Given the description of an element on the screen output the (x, y) to click on. 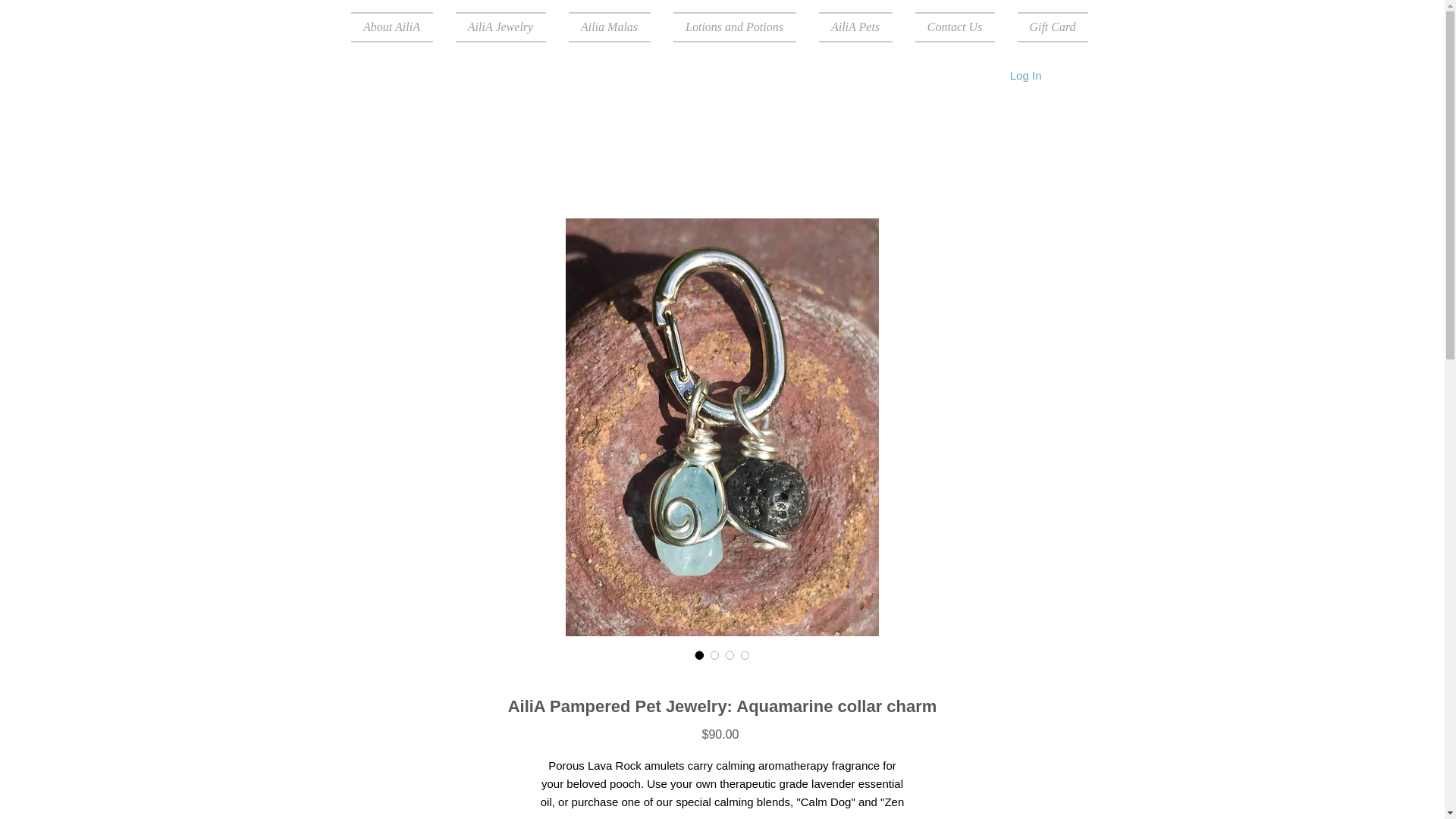
AiliA Pets (854, 27)
Gift Card (1046, 27)
Ailia Malas (608, 27)
Log In (1025, 74)
About AiliA (397, 27)
AiliA Jewelry (500, 27)
Contact Us (955, 27)
Lotions and Potions (733, 27)
